Given the description of an element on the screen output the (x, y) to click on. 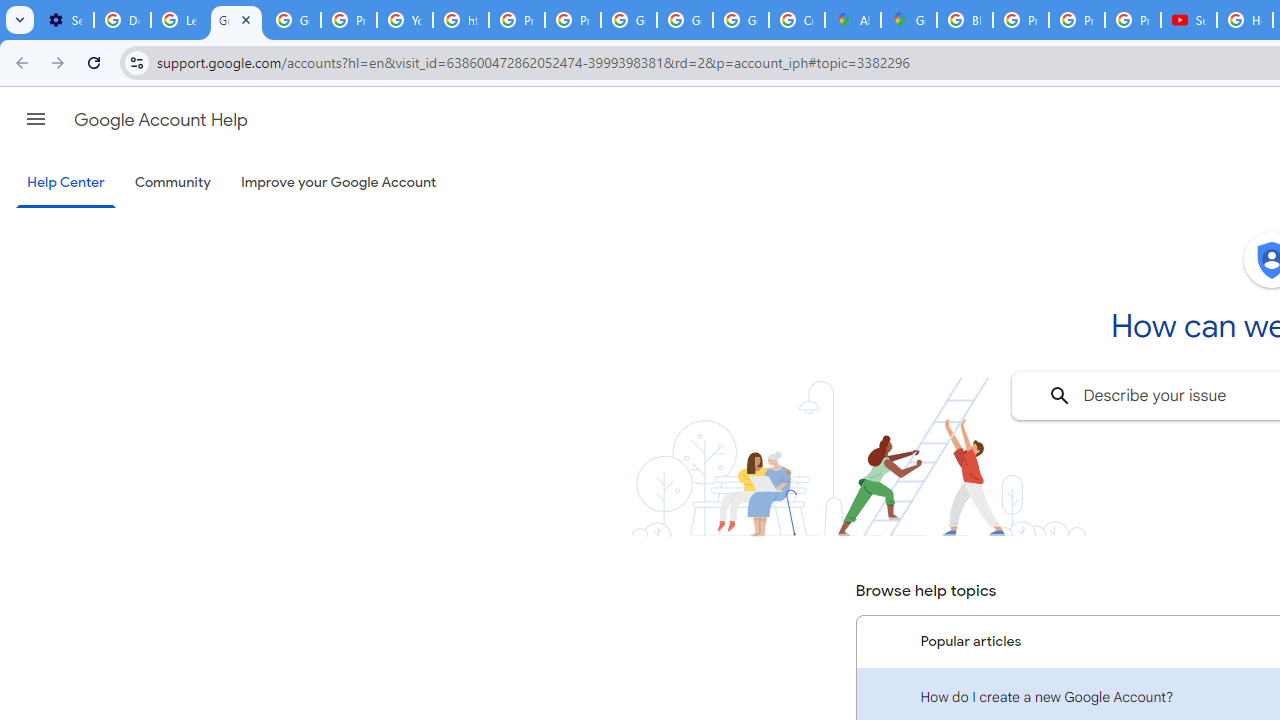
Google Account Help (160, 119)
Settings - Customize profile (65, 20)
Privacy Help Center - Policies Help (349, 20)
Google Account Help (235, 20)
Learn how to find your photos - Google Photos Help (179, 20)
Google Maps (908, 20)
